Given the description of an element on the screen output the (x, y) to click on. 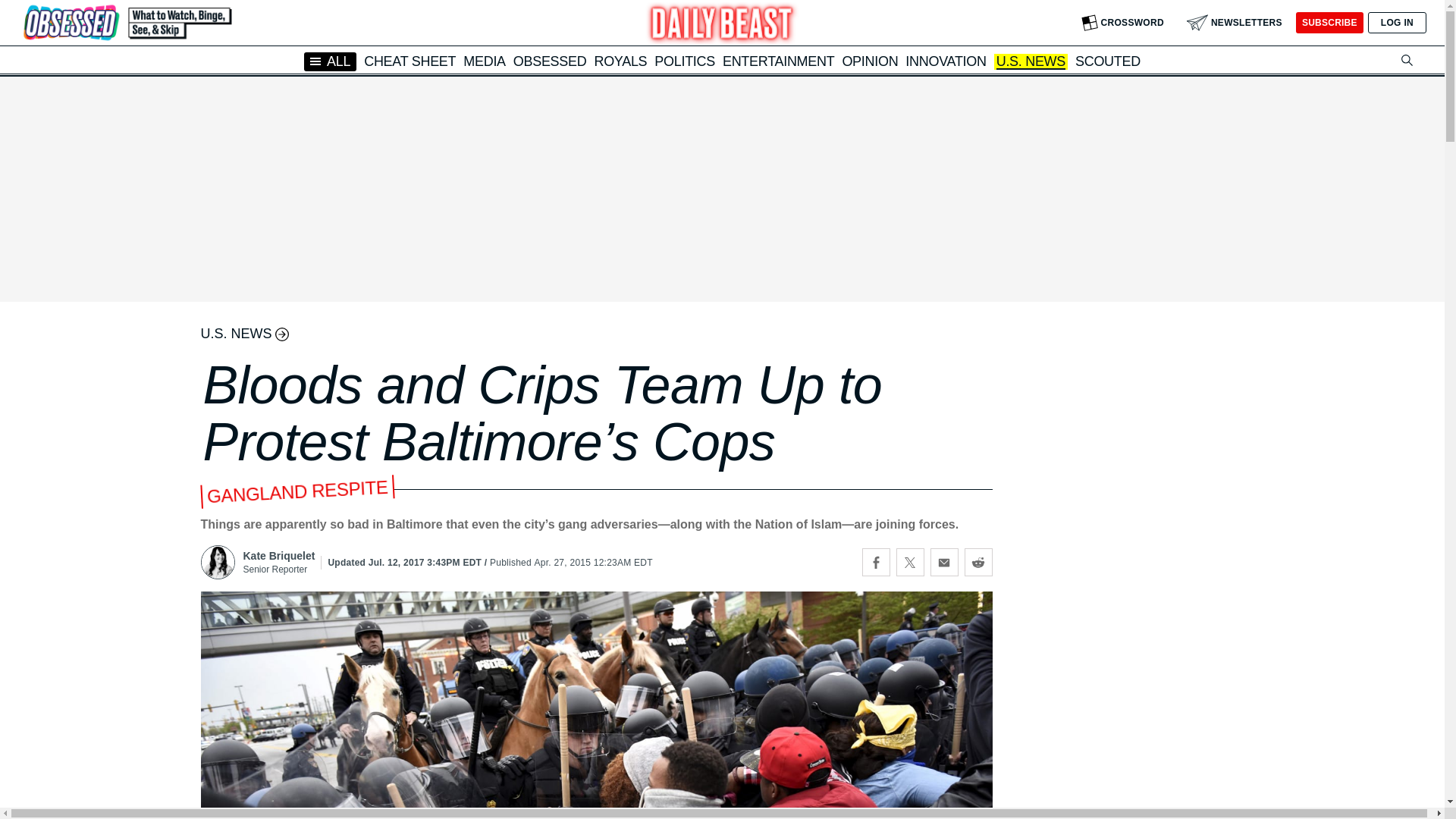
SCOUTED (1107, 60)
CROSSWORD (1122, 22)
NEWSLETTERS (1234, 22)
OBSESSED (549, 60)
U.S. NEWS (1030, 61)
LOG IN (1397, 22)
ENTERTAINMENT (778, 60)
INNOVATION (945, 60)
SUBSCRIBE (1328, 22)
ALL (330, 60)
ROYALS (620, 60)
OPINION (869, 60)
POLITICS (683, 60)
MEDIA (484, 60)
CHEAT SHEET (409, 60)
